Given the description of an element on the screen output the (x, y) to click on. 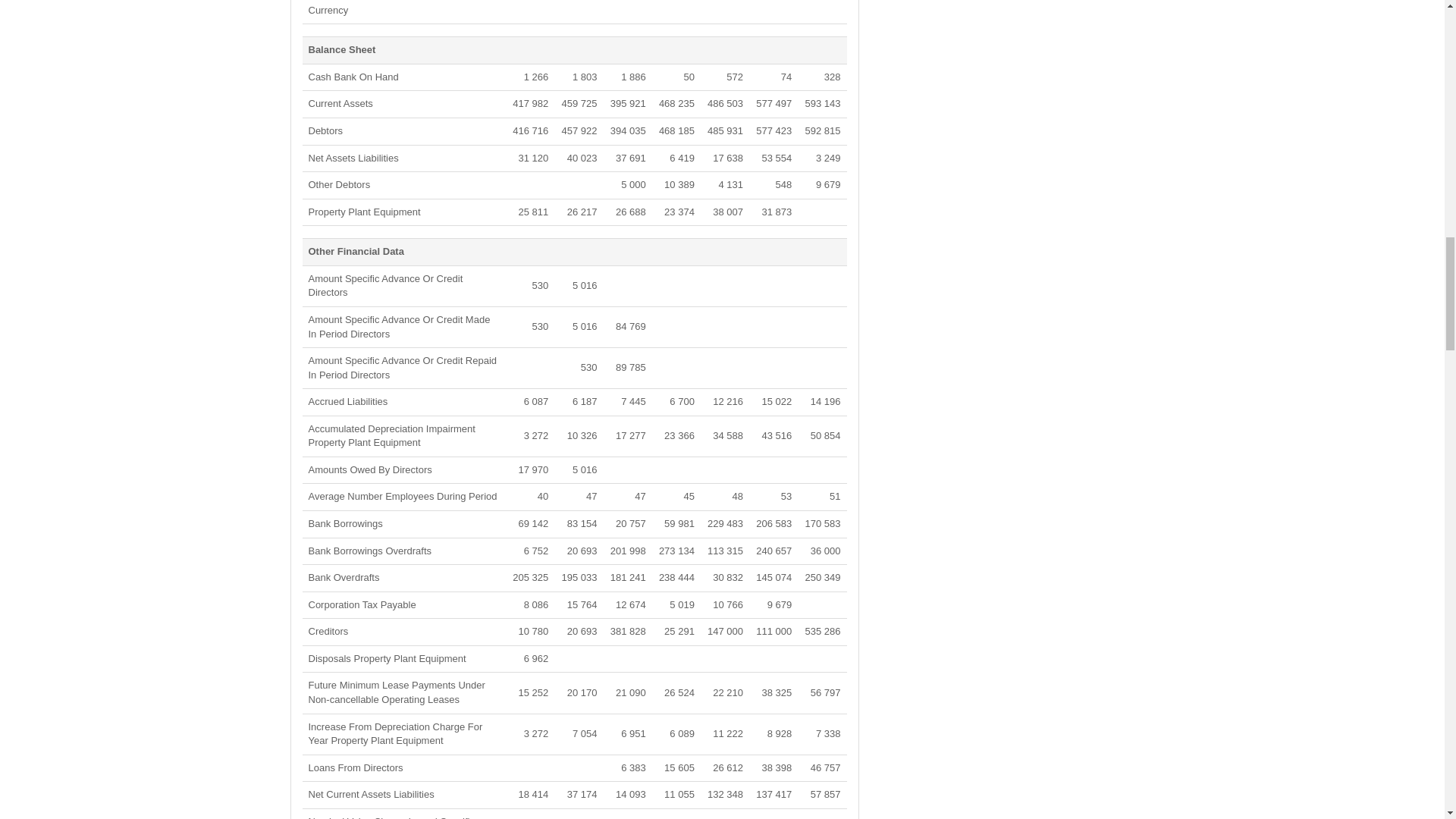
Assets to be used or sold within a year (339, 102)
CashBankOnHand (352, 76)
NetAssetsLiabilities (352, 157)
Money that other companies or people owe to the business (324, 130)
Other debtors (338, 184)
